Given the description of an element on the screen output the (x, y) to click on. 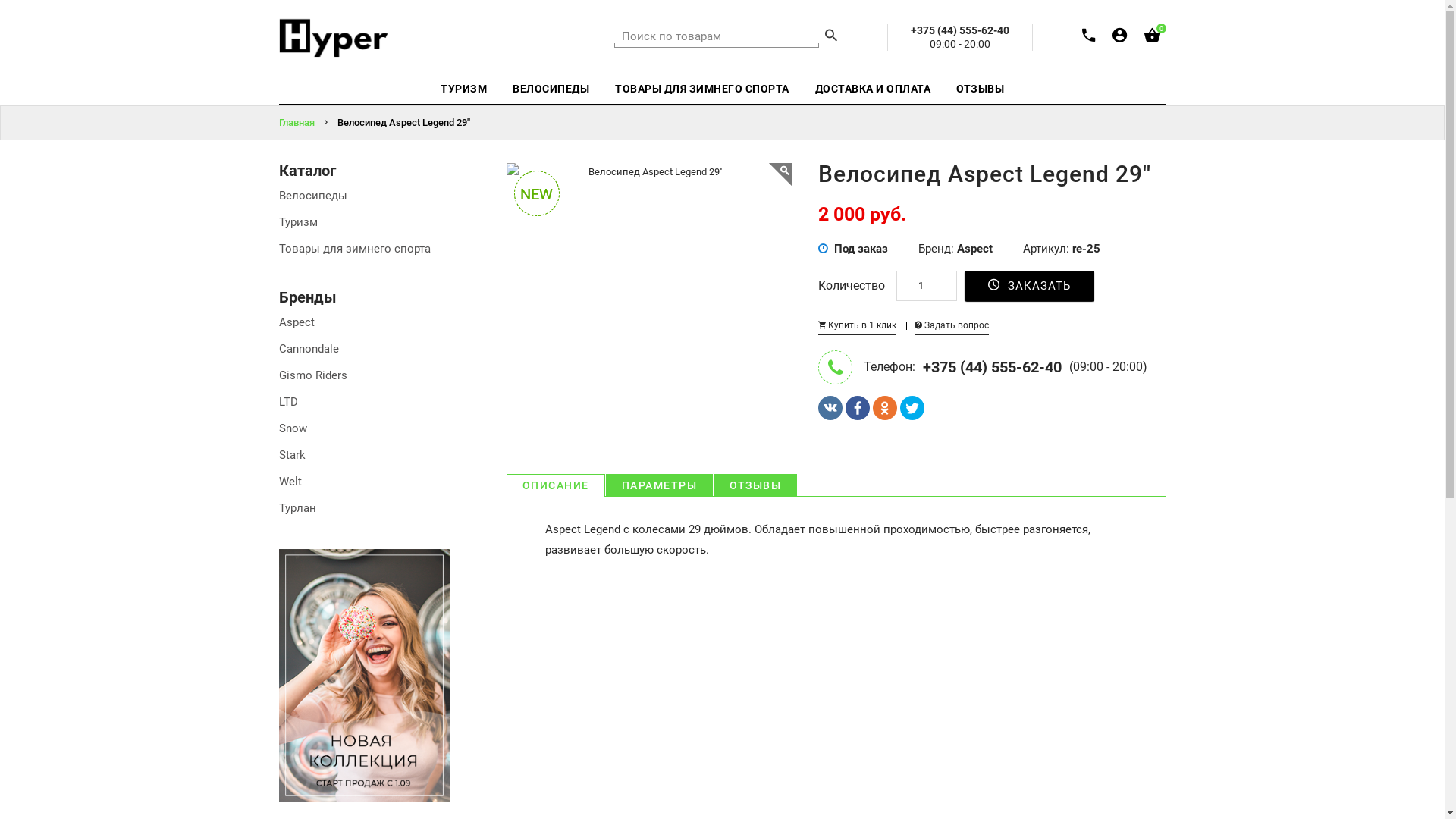
LTD Element type: text (288, 401)
Twitter Element type: hover (912, 407)
Cannondale Element type: text (308, 348)
Snow Element type: text (293, 428)
Welt Element type: text (290, 481)
Facebook Element type: hover (857, 407)
Gismo Riders Element type: text (313, 375)
0 Element type: text (1151, 37)
Aspect Element type: text (296, 322)
Stark Element type: text (292, 454)
